Given the description of an element on the screen output the (x, y) to click on. 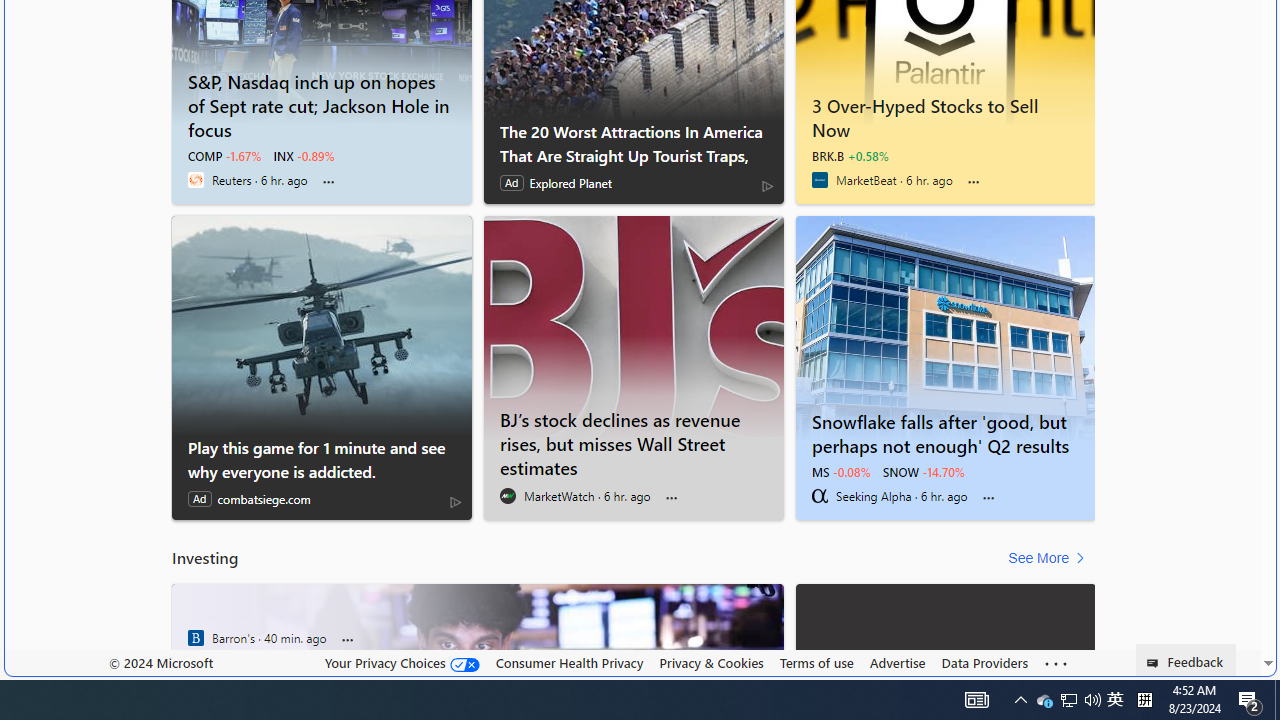
Class: oneFooter_seeMore-DS-EntryPoint1-1 (1055, 663)
MarketWatch (507, 495)
MarketBeat (819, 179)
AdChoices (456, 502)
3 Over-Hyped Stocks to Sell Now - MarketBeat (945, 114)
